Given the description of an element on the screen output the (x, y) to click on. 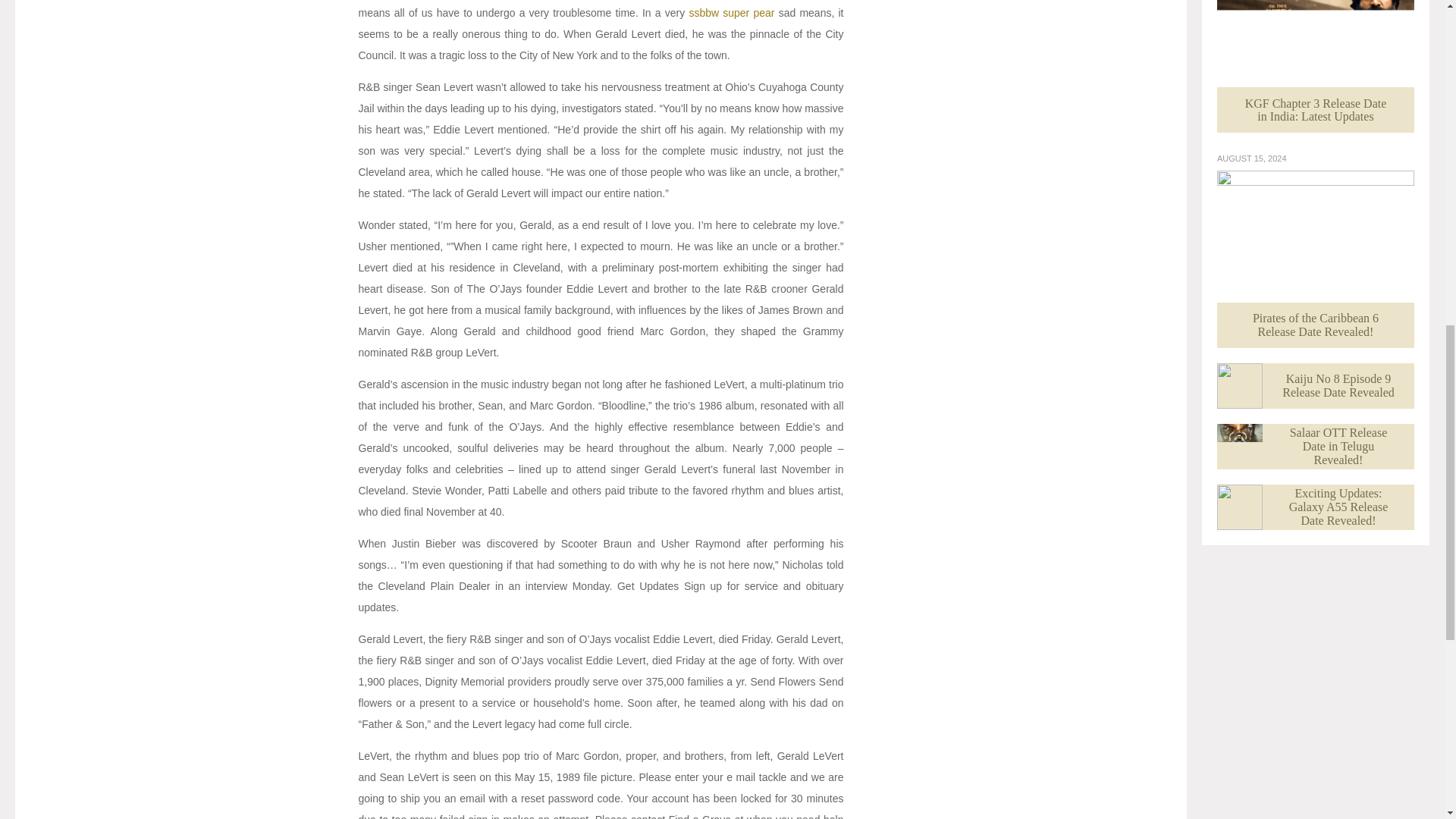
KGF Chapter 3 Release Date in India: Latest Updates (1315, 66)
Pirates of the Caribbean 6 Release Date Revealed! (1315, 258)
ssbbw super pear (731, 12)
AUGUST 15, 2024 (1252, 157)
